Given the description of an element on the screen output the (x, y) to click on. 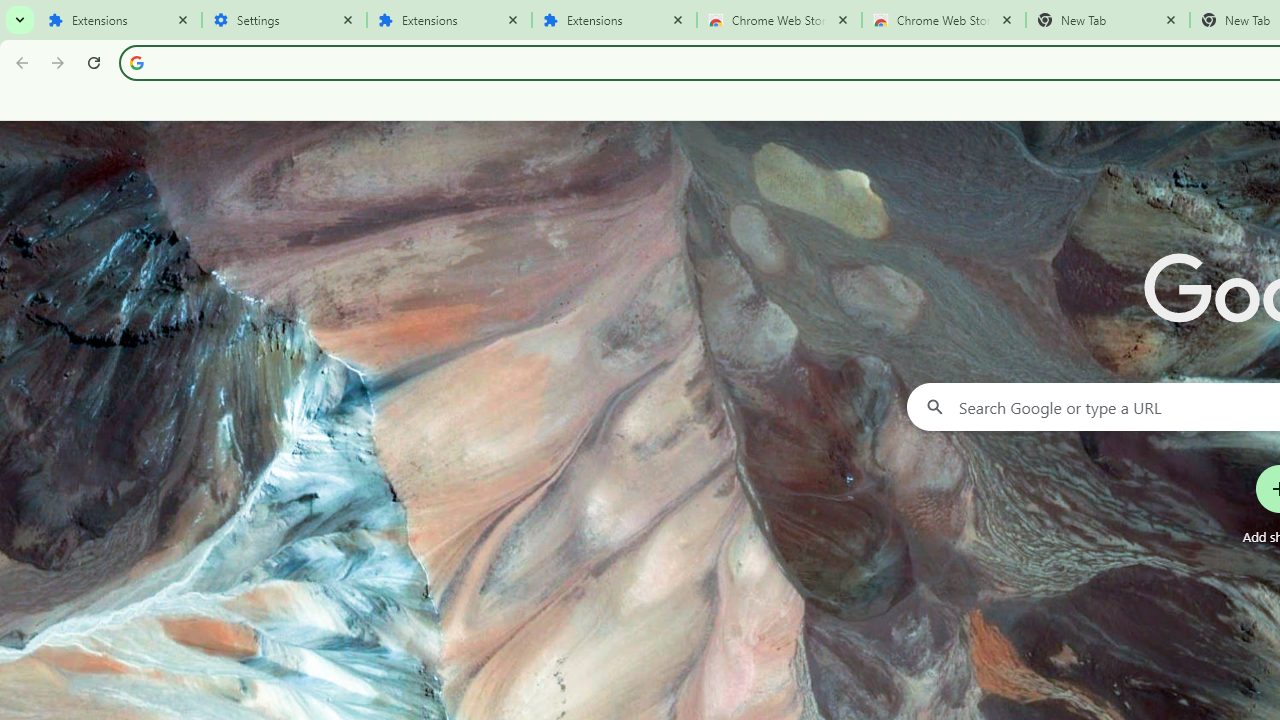
Chrome Web Store (779, 20)
Chrome Web Store - Themes (943, 20)
Settings (284, 20)
New Tab (1108, 20)
Extensions (614, 20)
Extensions (449, 20)
Extensions (119, 20)
